Given the description of an element on the screen output the (x, y) to click on. 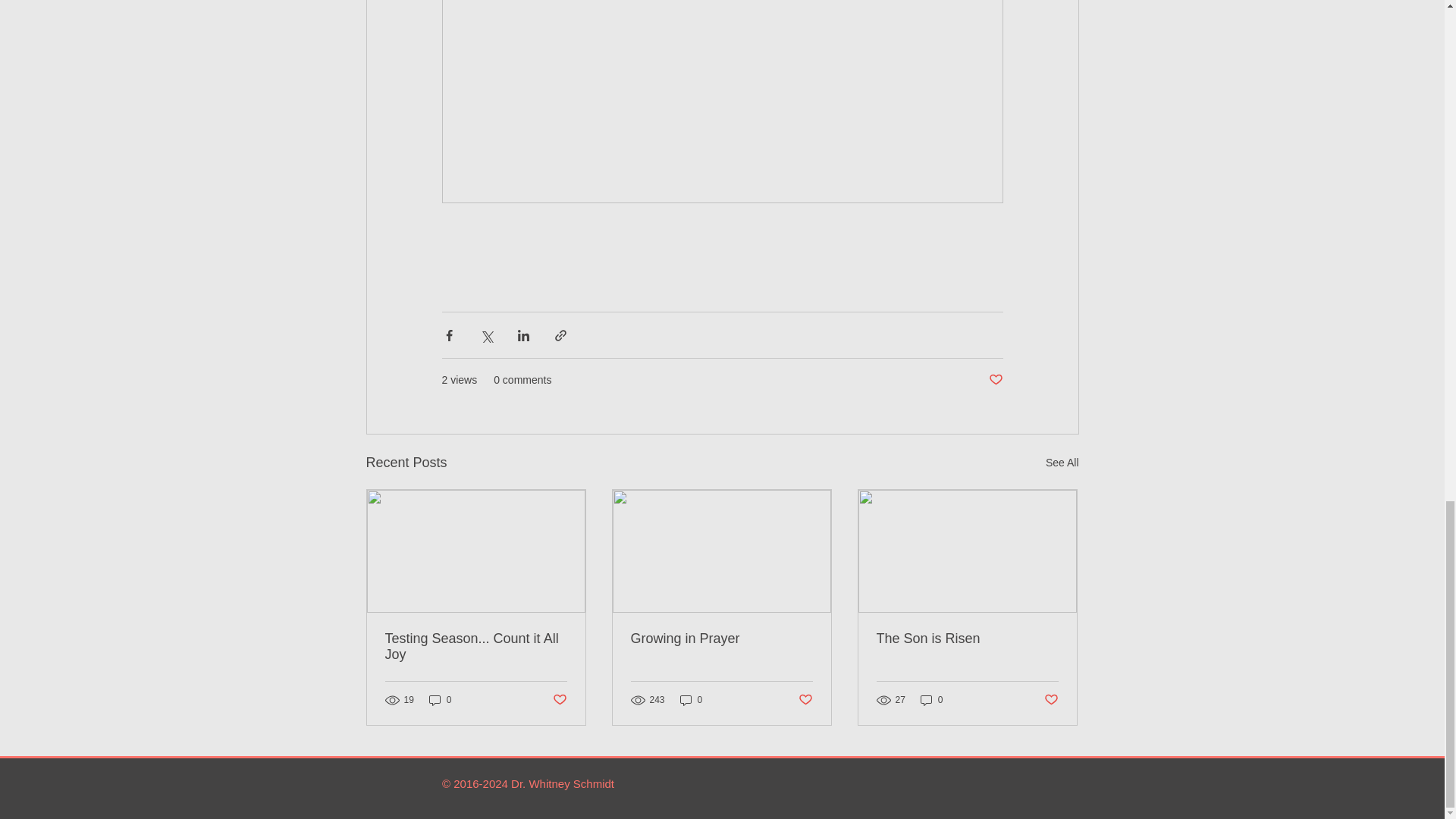
Post not marked as liked (995, 380)
Growing in Prayer (721, 638)
0 (440, 699)
See All (1061, 463)
0 (931, 699)
Post not marked as liked (804, 700)
Testing Season... Count it All Joy (476, 646)
0 (691, 699)
Post not marked as liked (558, 700)
Post not marked as liked (1050, 700)
